Given the description of an element on the screen output the (x, y) to click on. 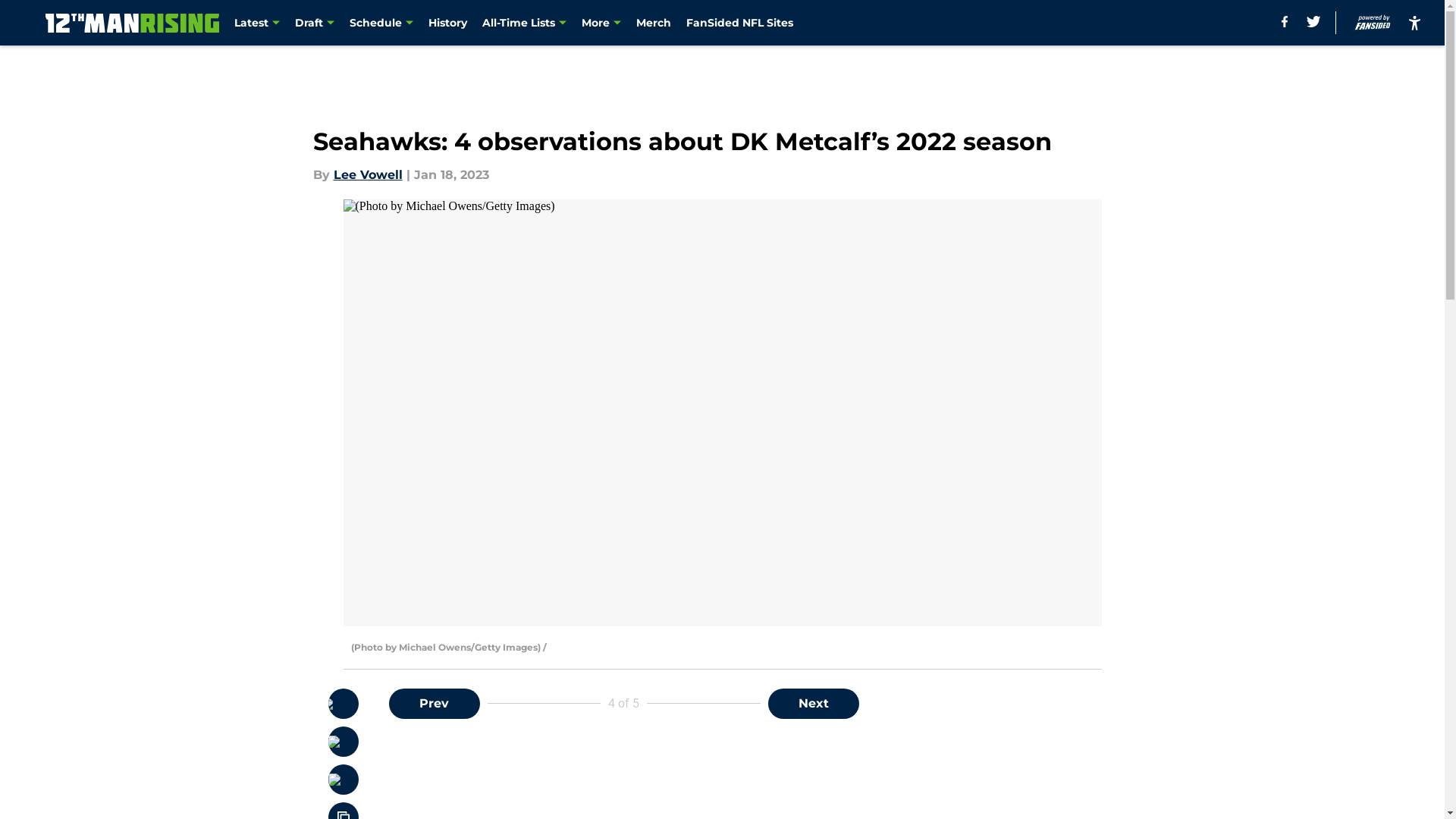
Prev Element type: text (433, 703)
Next Element type: text (812, 703)
Merch Element type: text (653, 22)
FanSided NFL Sites Element type: text (739, 22)
History Element type: text (447, 22)
(Photo by Michael Owens/Getty Images) Element type: hover (721, 412)
Lee Vowell Element type: text (367, 174)
